Given the description of an element on the screen output the (x, y) to click on. 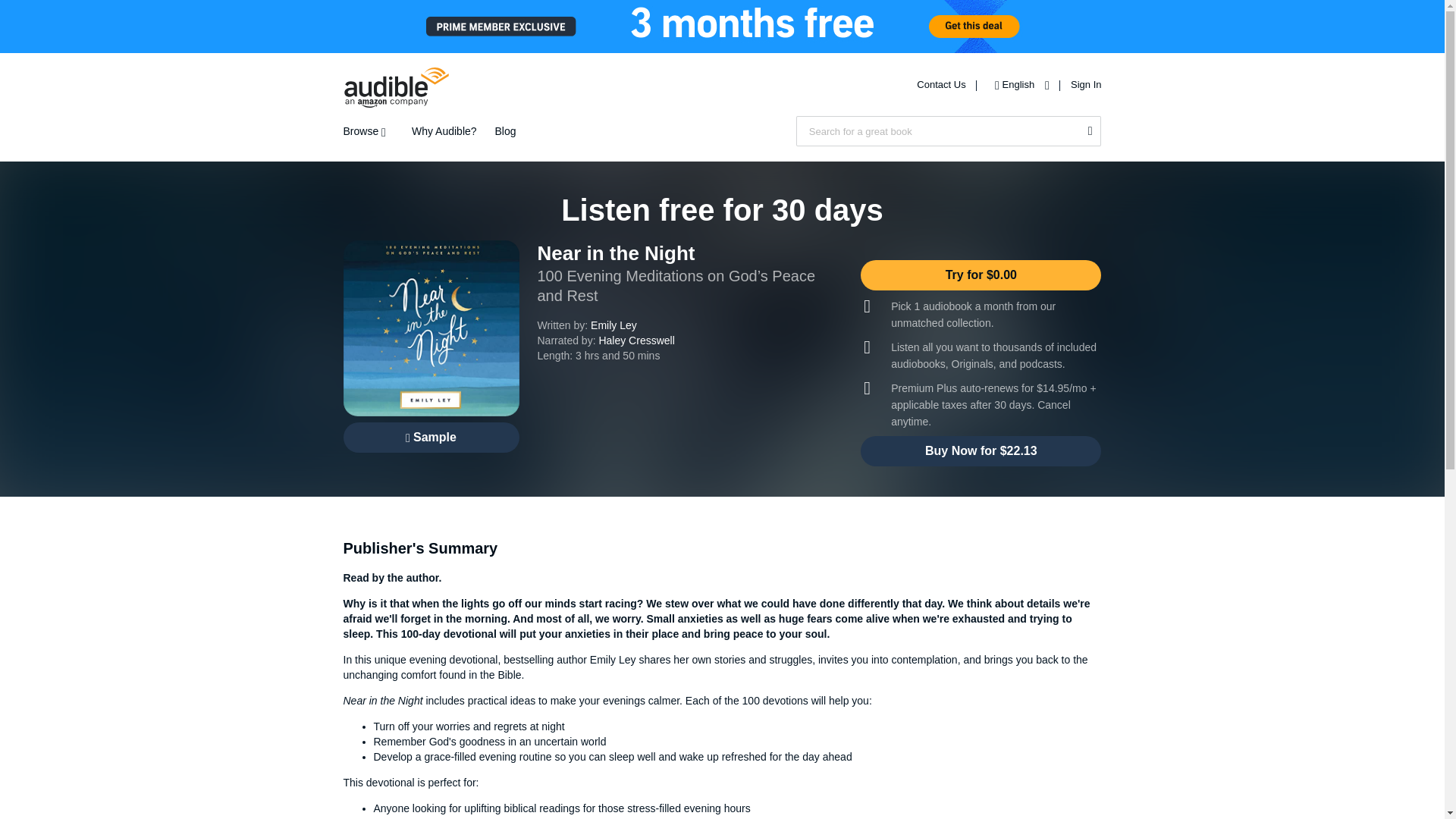
Blog (505, 131)
Emily Ley (614, 325)
English (1018, 84)
Sign In (1085, 84)
Sample (430, 437)
Haley Cresswell (636, 340)
Browse (367, 131)
Why Audible? (444, 131)
Contact Us (942, 84)
